Given the description of an element on the screen output the (x, y) to click on. 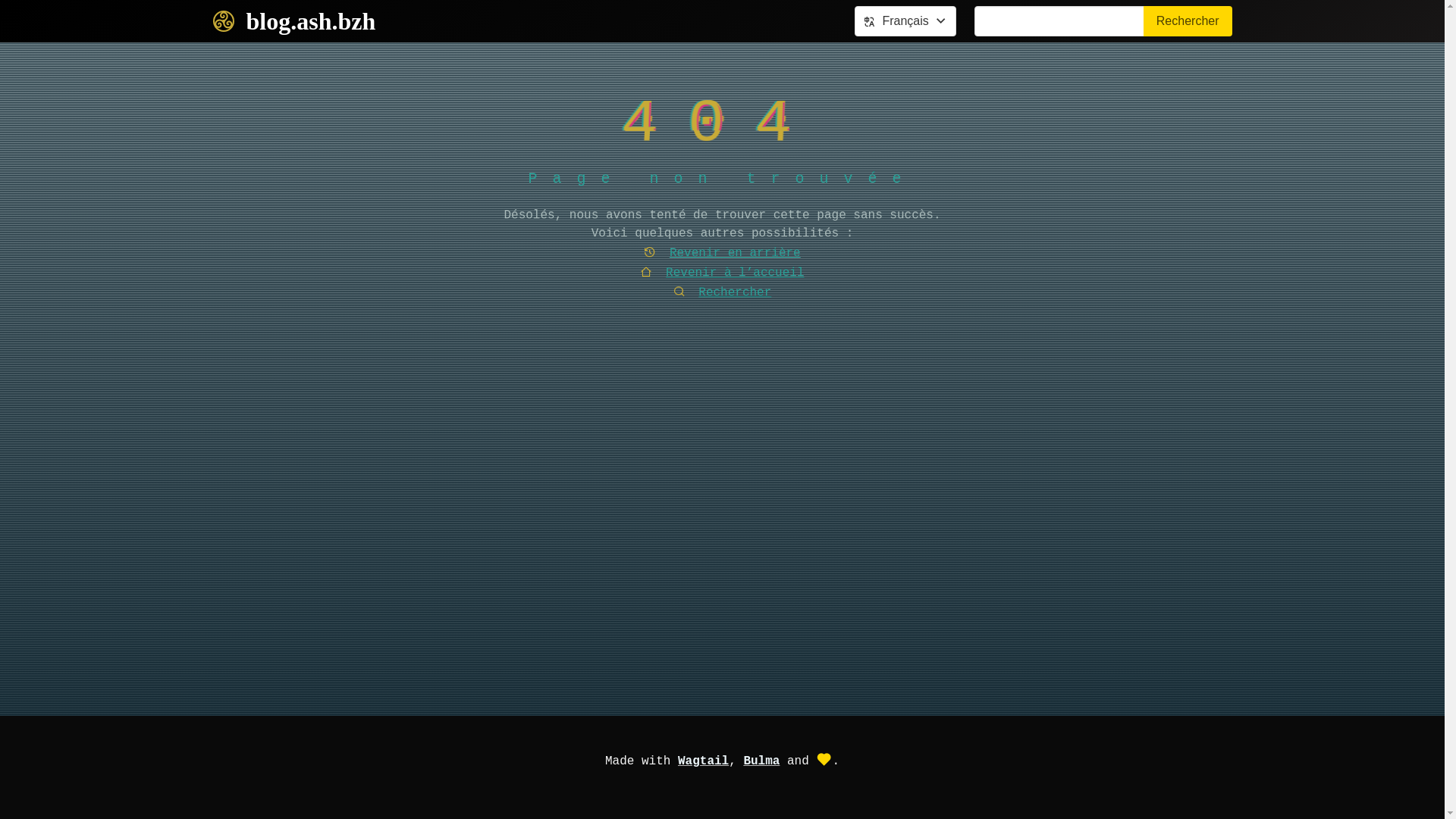
Rechercher Element type: text (722, 292)
Wagtail Element type: text (702, 761)
Rechercher Element type: text (1187, 21)
blog.ash.bzh Element type: text (293, 21)
Bulma Element type: text (761, 761)
